Given the description of an element on the screen output the (x, y) to click on. 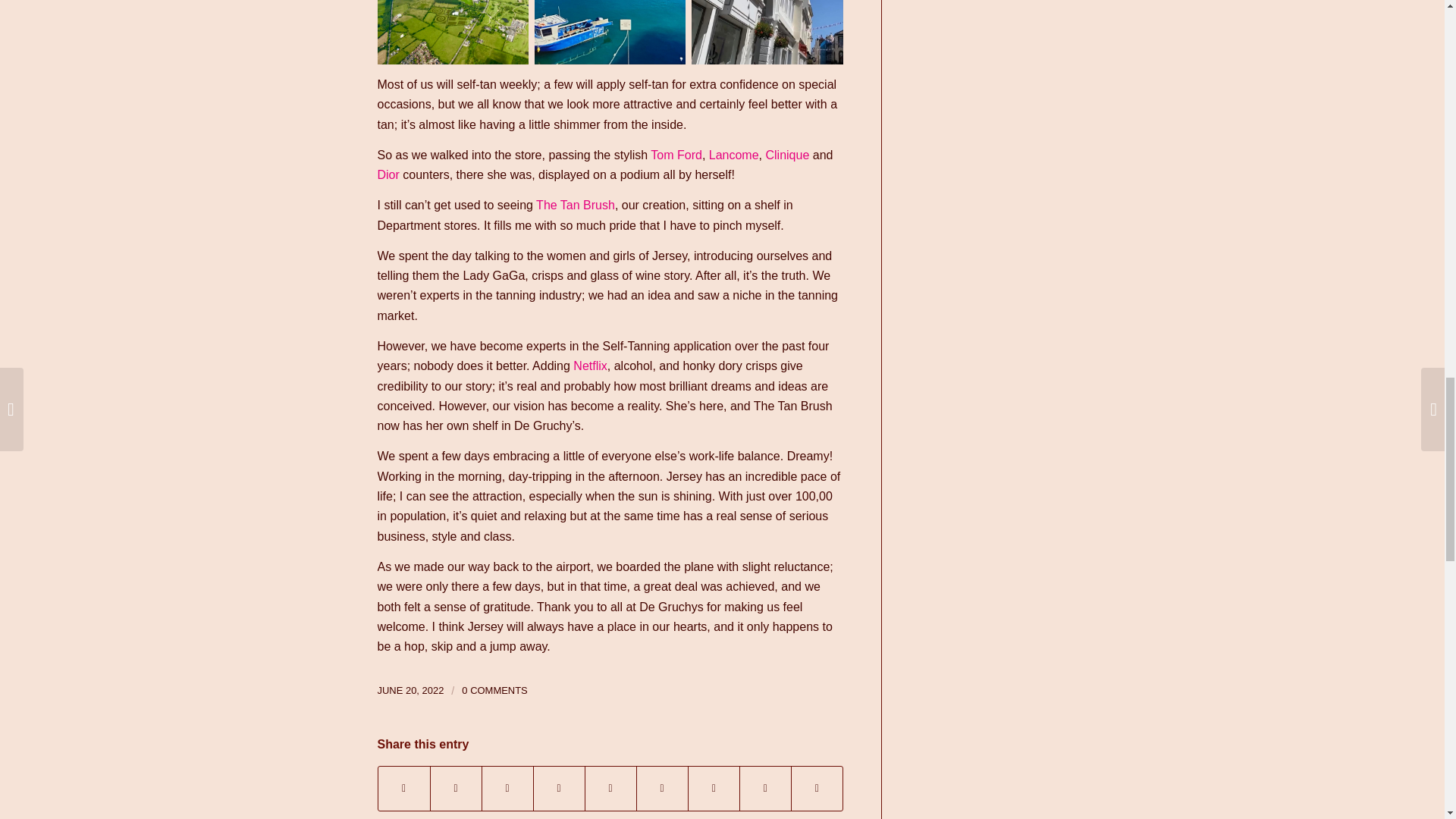
The Tan Brush (574, 205)
Clinique (787, 154)
Netflix (590, 365)
Dior (387, 174)
Tom Ford (674, 154)
Lancome (733, 154)
0 COMMENTS (494, 690)
